Given the description of an element on the screen output the (x, y) to click on. 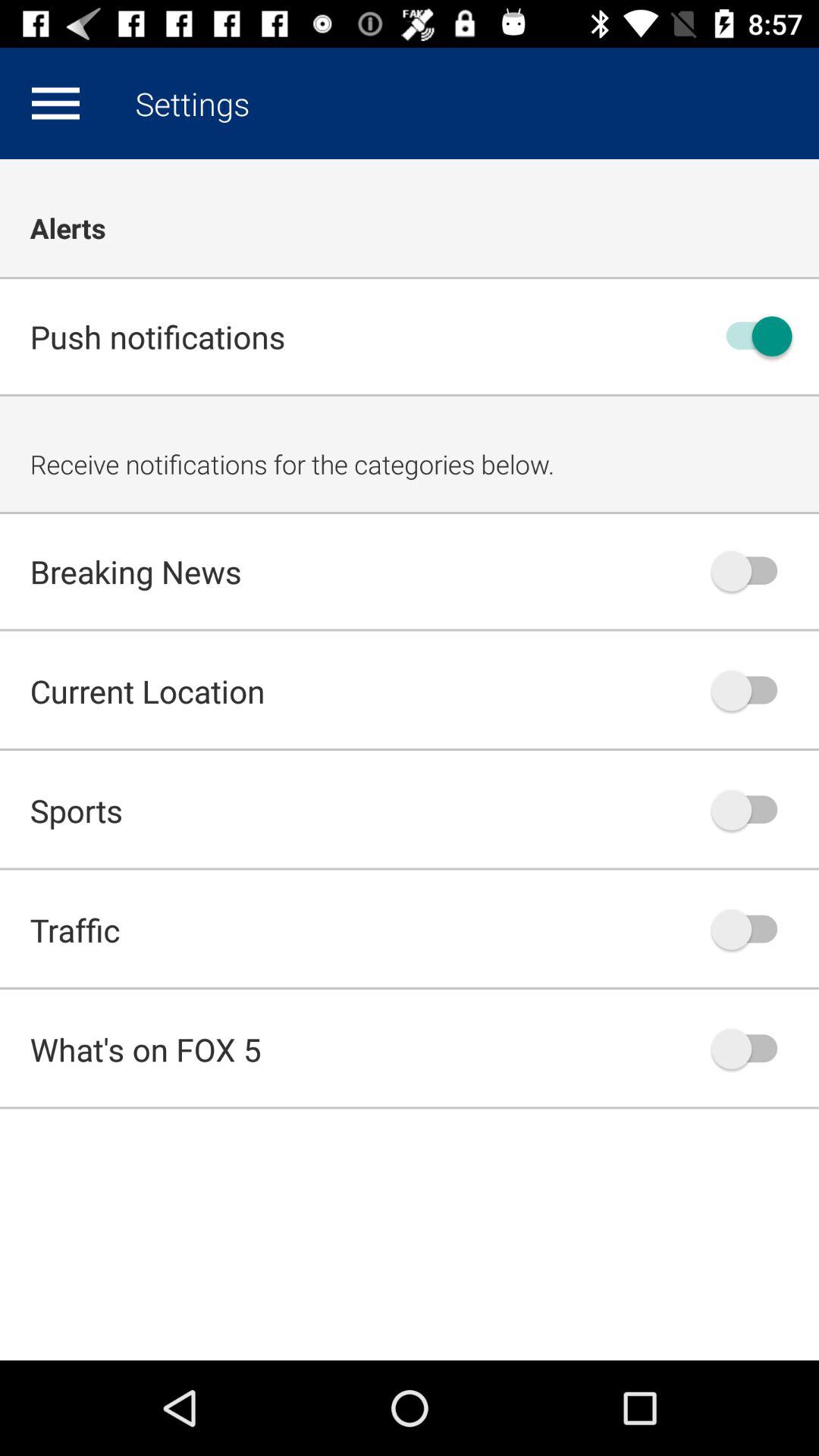
displays menu (55, 103)
